Given the description of an element on the screen output the (x, y) to click on. 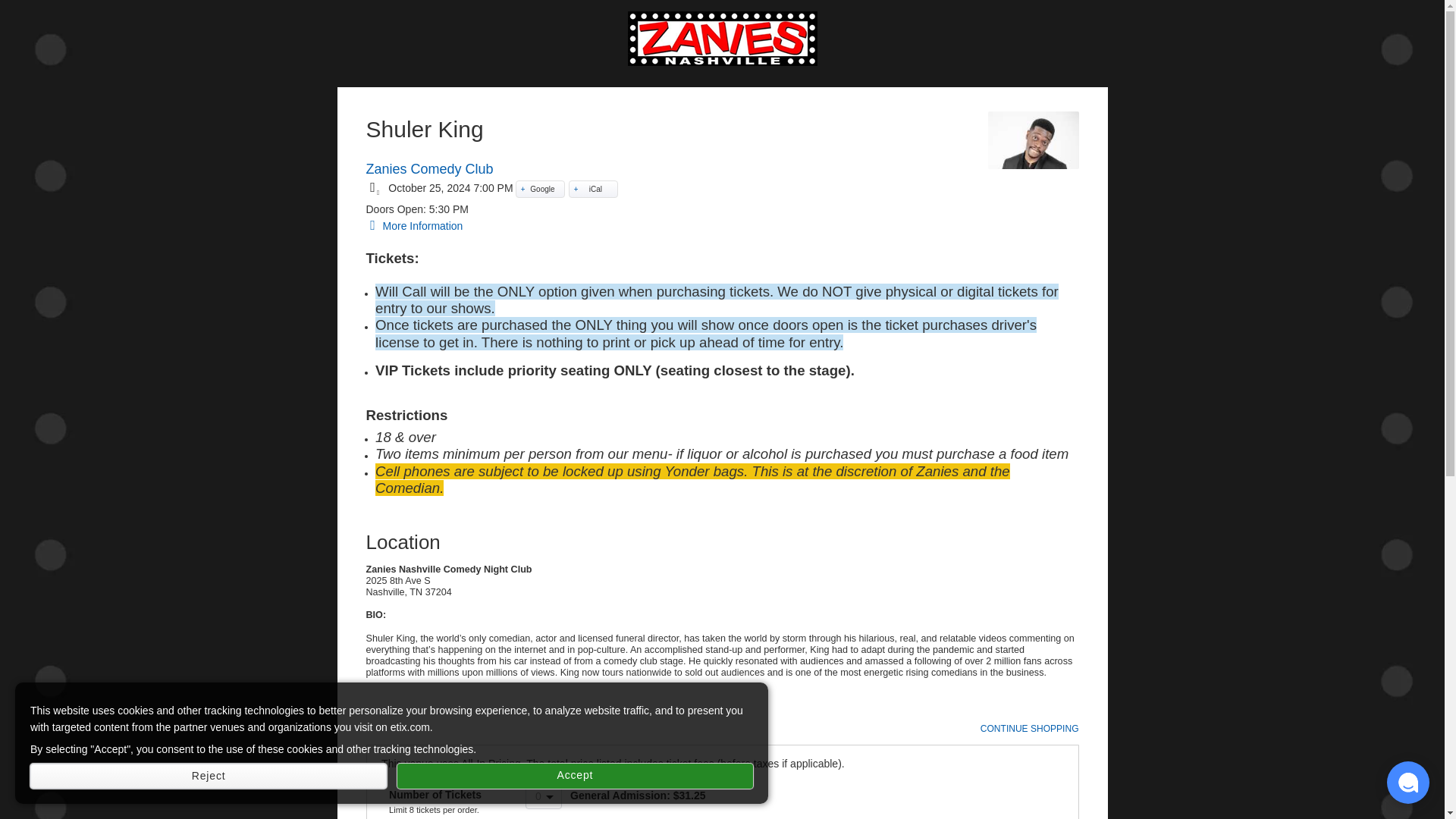
CONTINUE SHOPPING (1028, 728)
Zanies Comedy Club (429, 168)
Accept (574, 775)
Reject (208, 775)
More Information (414, 225)
